Given the description of an element on the screen output the (x, y) to click on. 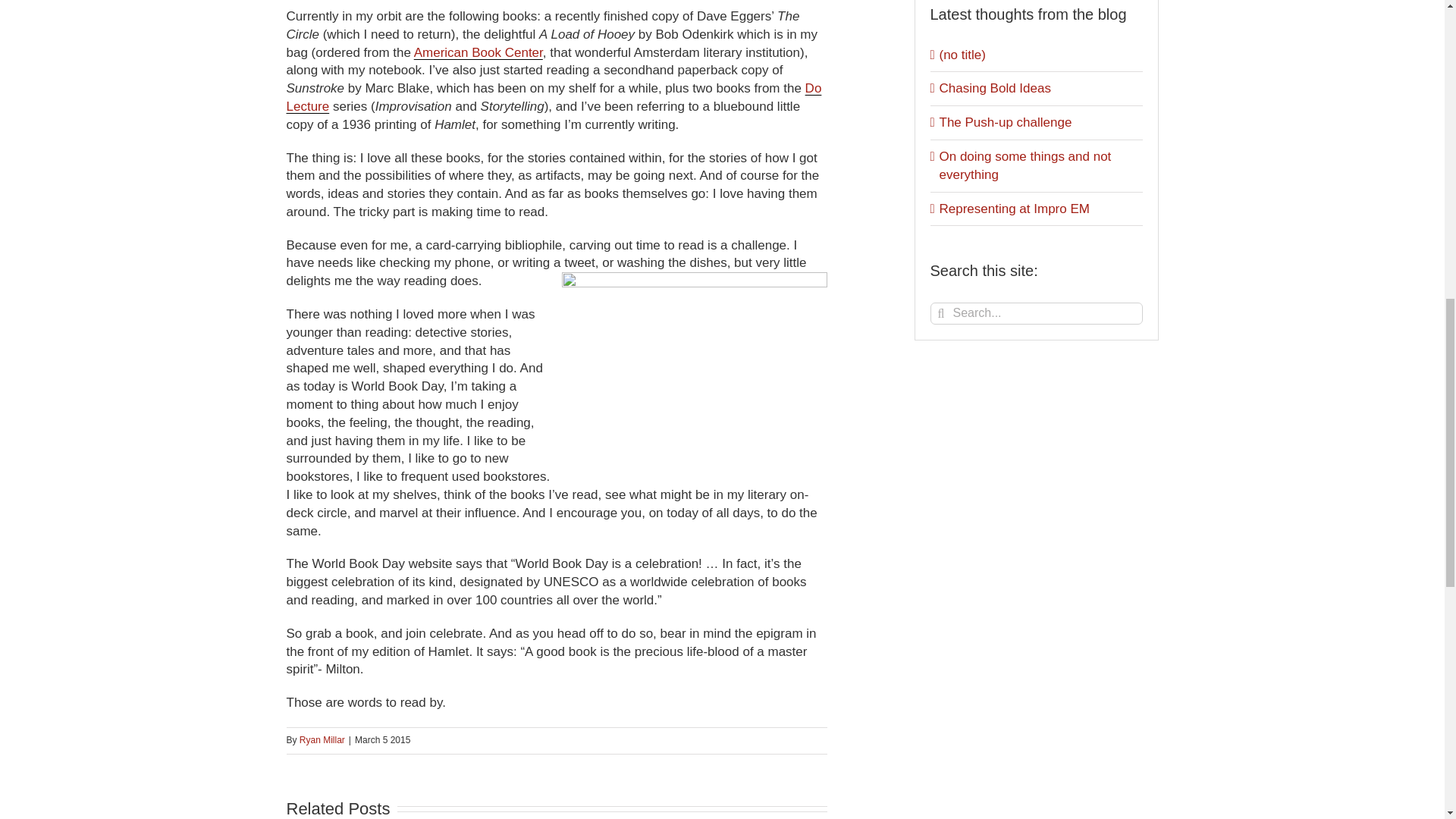
On doing some things and not everything (1024, 165)
Ryan Millar (322, 739)
American Book Center (478, 52)
Do Lecture (554, 97)
The Push-up challenge (1005, 122)
Chasing Bold Ideas (994, 88)
Posts by Ryan Millar (322, 739)
